Given the description of an element on the screen output the (x, y) to click on. 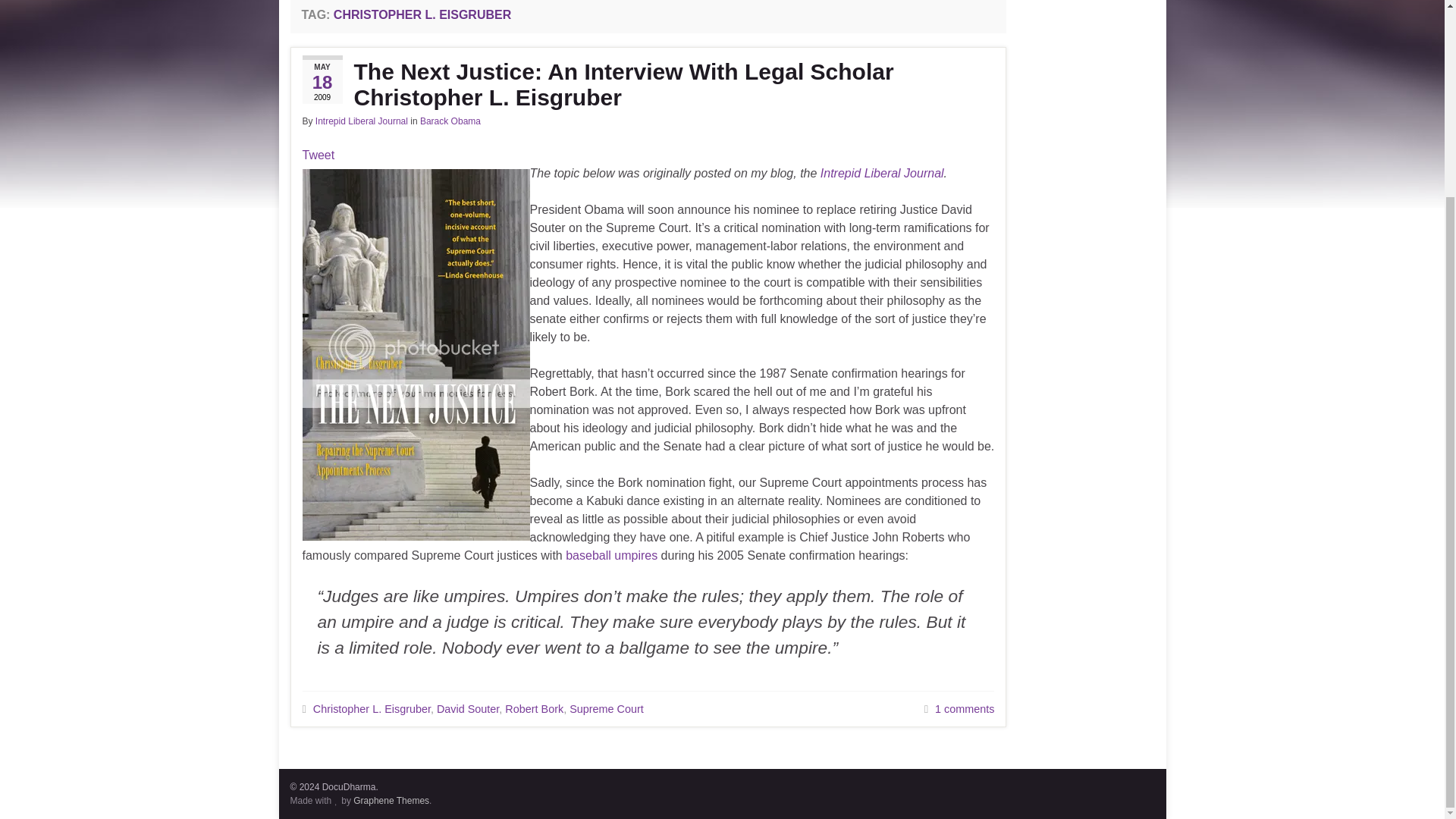
Robert Bork (534, 708)
1 comments (964, 708)
David Souter (467, 708)
Graphene Themes (391, 800)
Barack Obama (450, 121)
Intrepid Liberal Journal (361, 121)
Intrepid Liberal Journal (882, 173)
Tweet (317, 154)
Supreme Court (606, 708)
